Given the description of an element on the screen output the (x, y) to click on. 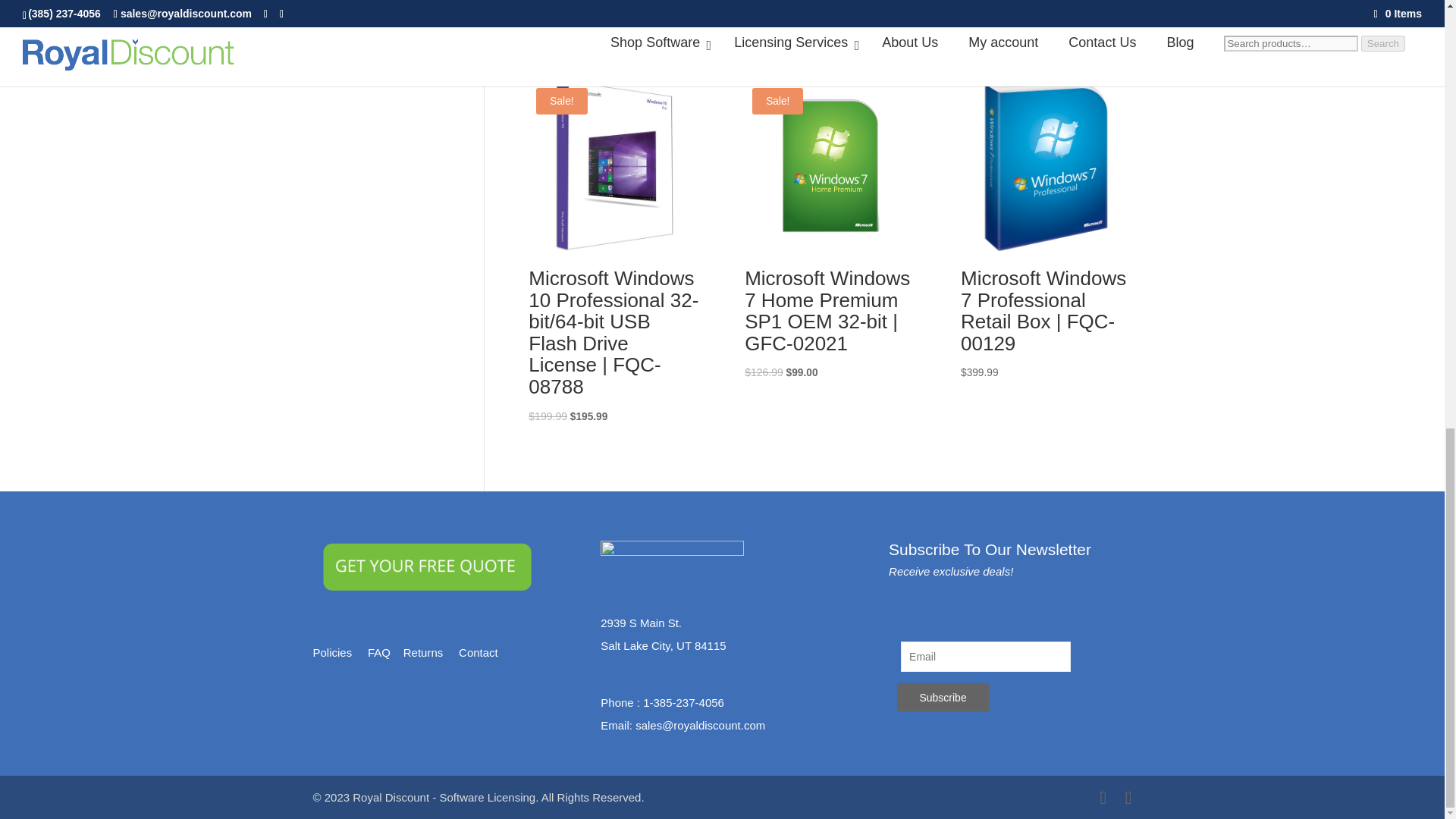
Subscribe (942, 697)
